Given the description of an element on the screen output the (x, y) to click on. 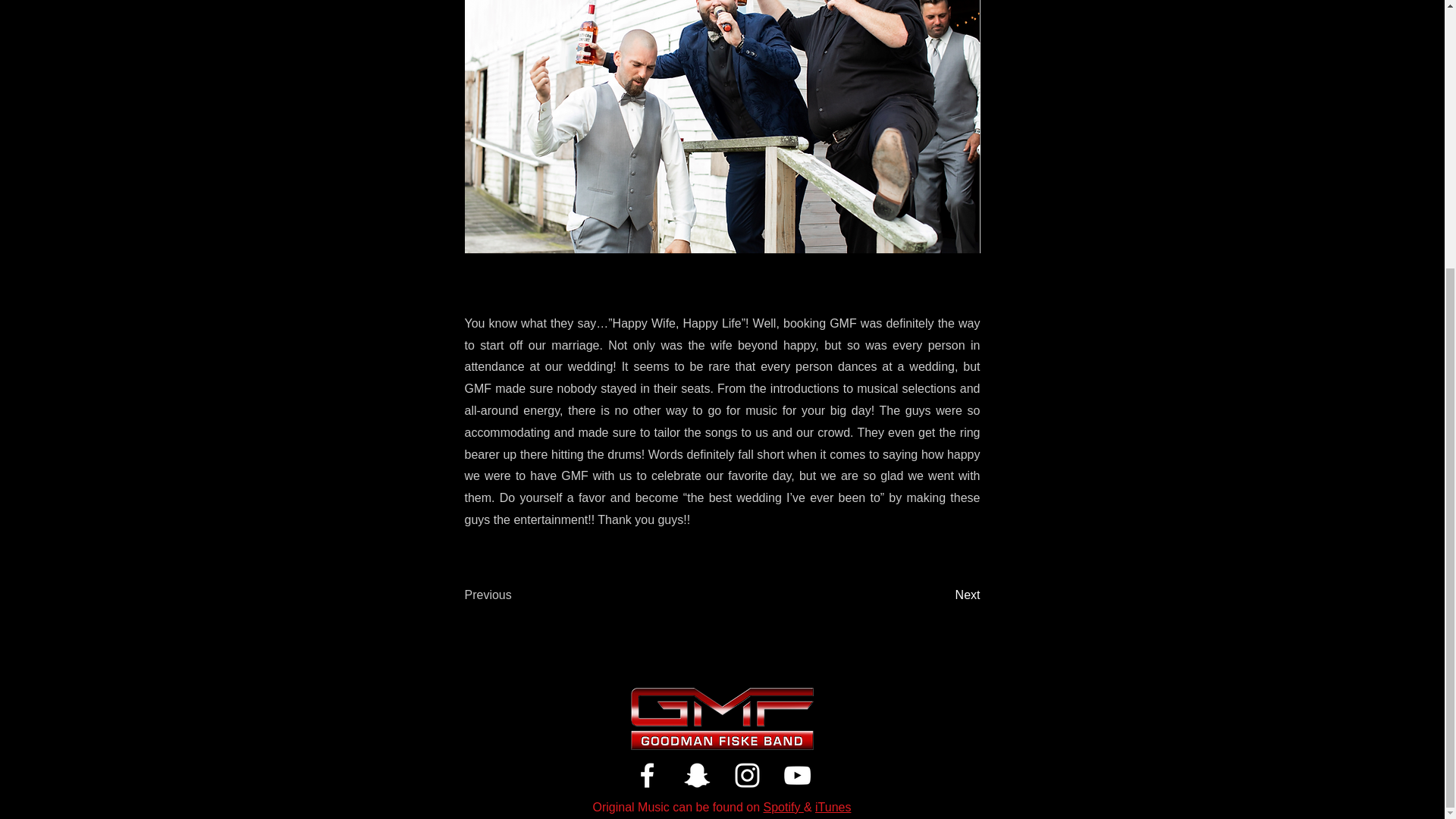
iTunes (832, 807)
Spotify  (782, 807)
Next (941, 594)
Previous (514, 594)
lanning wedding.png (721, 126)
